Given the description of an element on the screen output the (x, y) to click on. 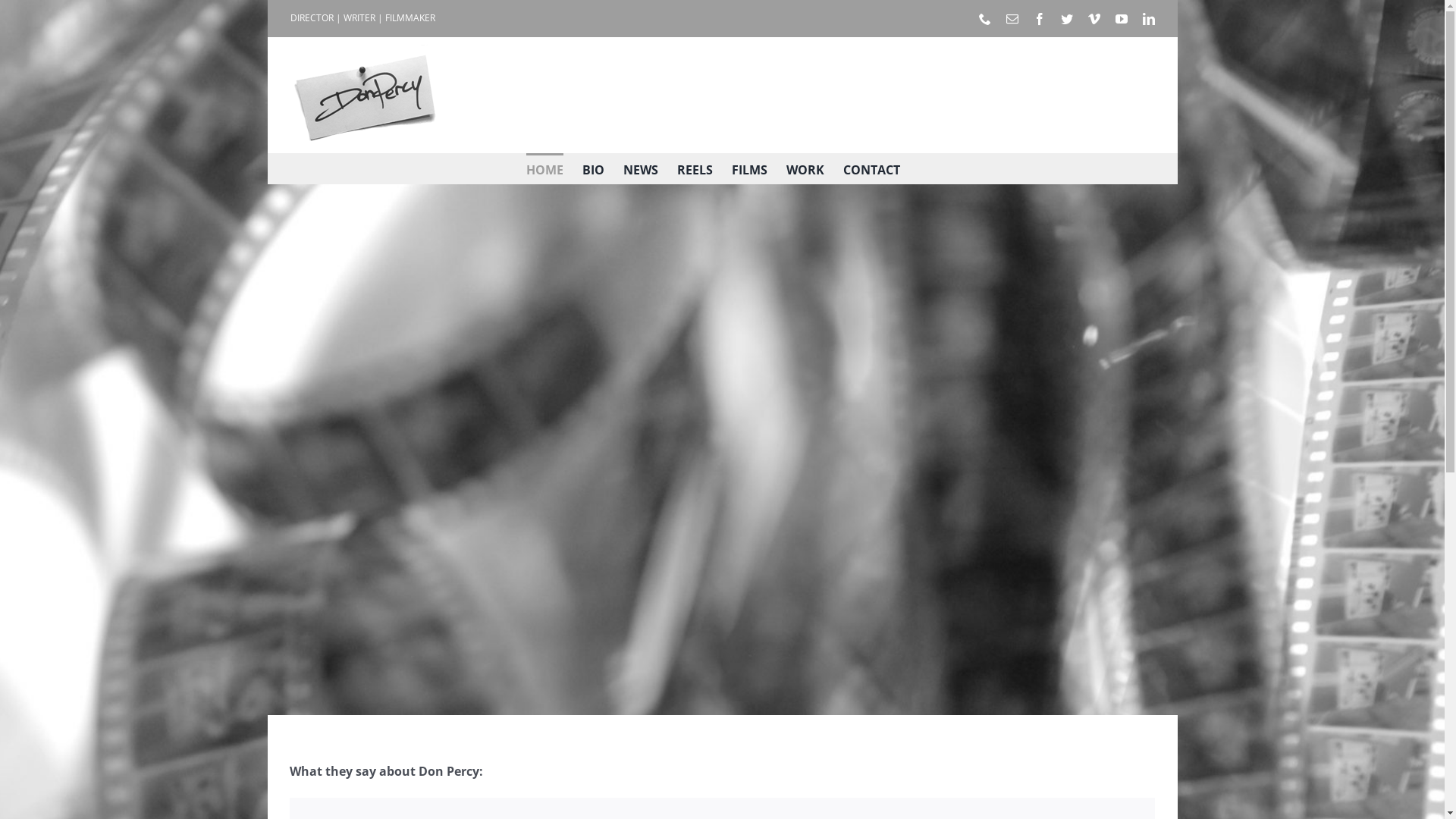
LinkedIn Element type: text (1148, 18)
Twitter Element type: text (1066, 18)
Phone Element type: text (984, 18)
BIO Element type: text (593, 168)
CONTACT Element type: text (871, 168)
FILMS Element type: text (748, 168)
YouTube Element type: text (1120, 18)
REELS Element type: text (694, 168)
NEWS Element type: text (640, 168)
Facebook Element type: text (1038, 18)
WORK Element type: text (804, 168)
HOME Element type: text (544, 168)
Vimeo Element type: text (1093, 18)
Email Element type: text (1011, 18)
